Given the description of an element on the screen output the (x, y) to click on. 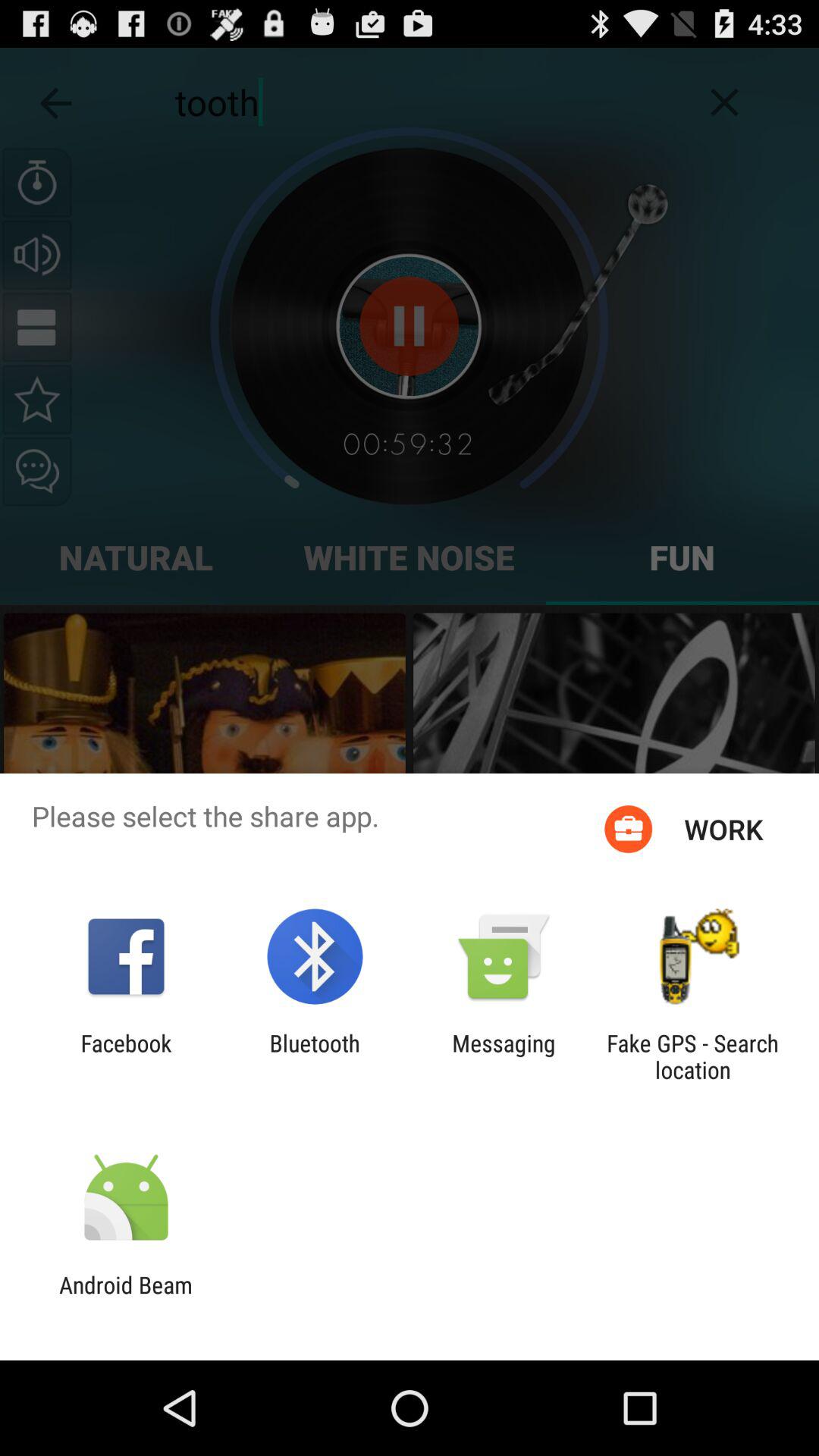
open the fake gps search icon (692, 1056)
